Given the description of an element on the screen output the (x, y) to click on. 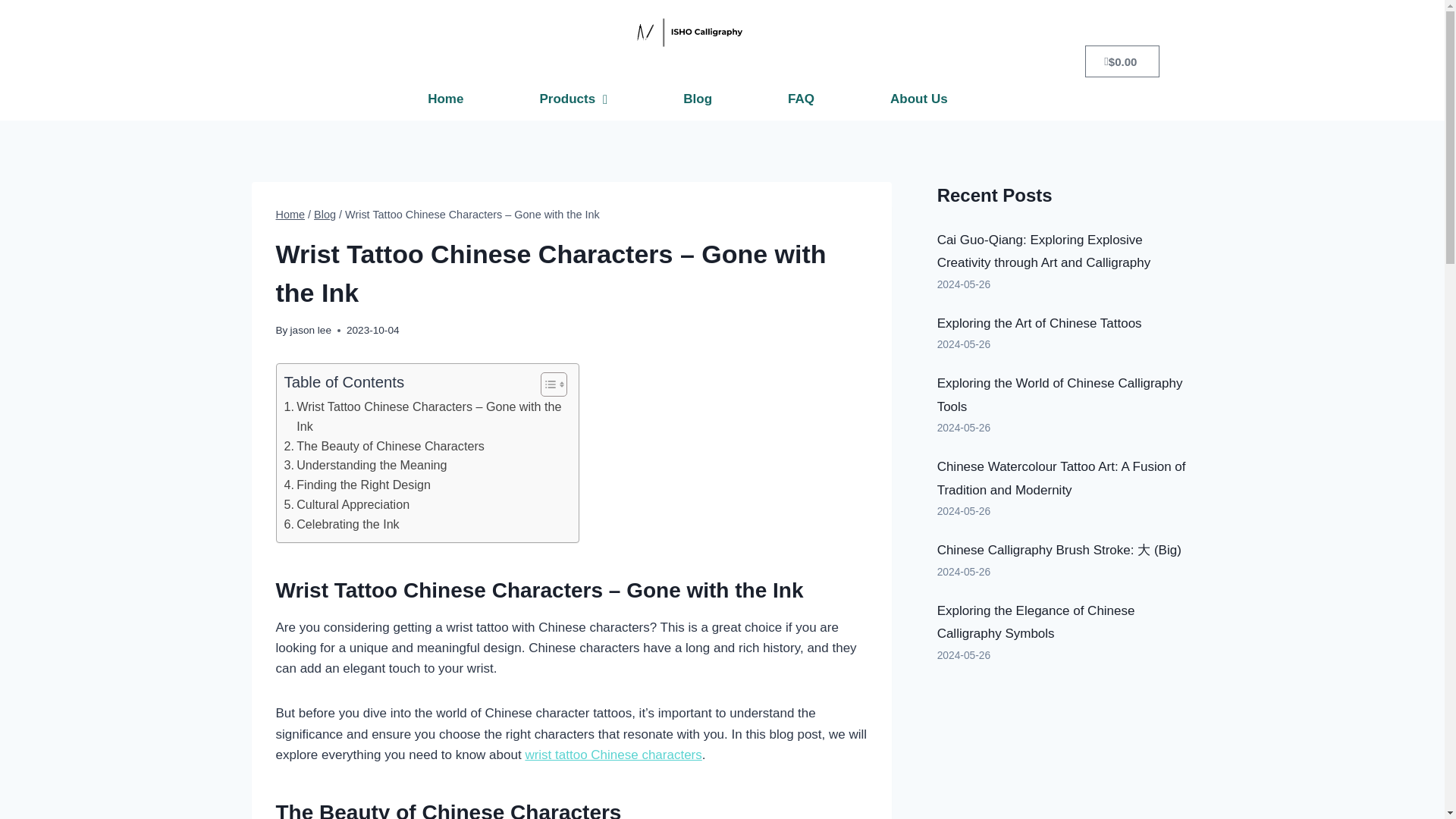
Celebrating the Ink (340, 524)
Cultural Appreciation (346, 505)
Exploring the Elegance of Chinese Calligraphy Symbols (1036, 622)
Home (445, 98)
Understanding the Meaning (364, 465)
Finding the Right Design (356, 485)
jason lee (310, 329)
wrist tattoo Chinese characters (612, 754)
Blog (697, 98)
Products (572, 98)
Celebrating the Ink (340, 524)
The Beauty of Chinese Characters (383, 446)
The Beauty of Chinese Characters (383, 446)
